Given the description of an element on the screen output the (x, y) to click on. 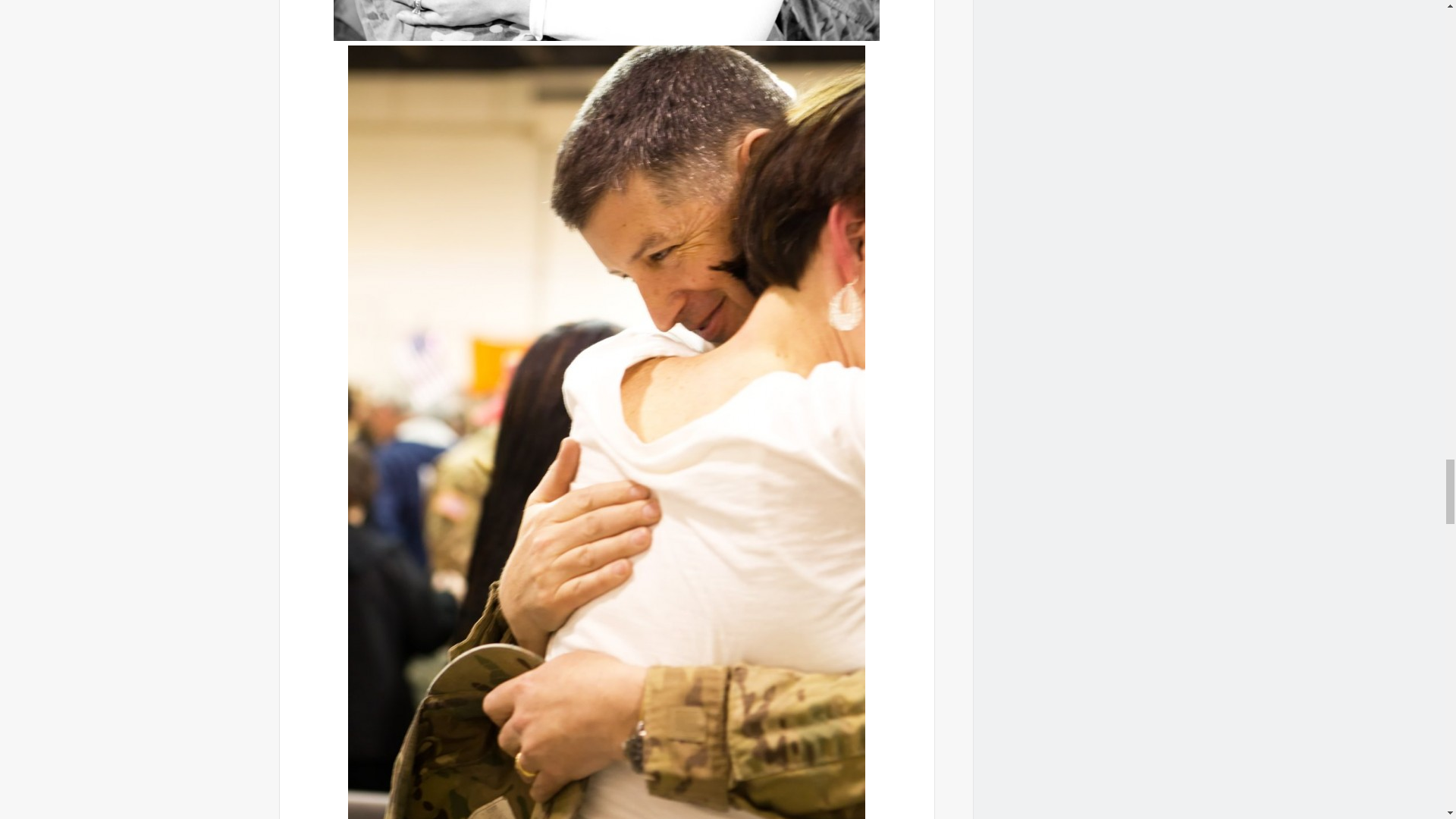
LeeHomecoming-1062 (606, 20)
